Given the description of an element on the screen output the (x, y) to click on. 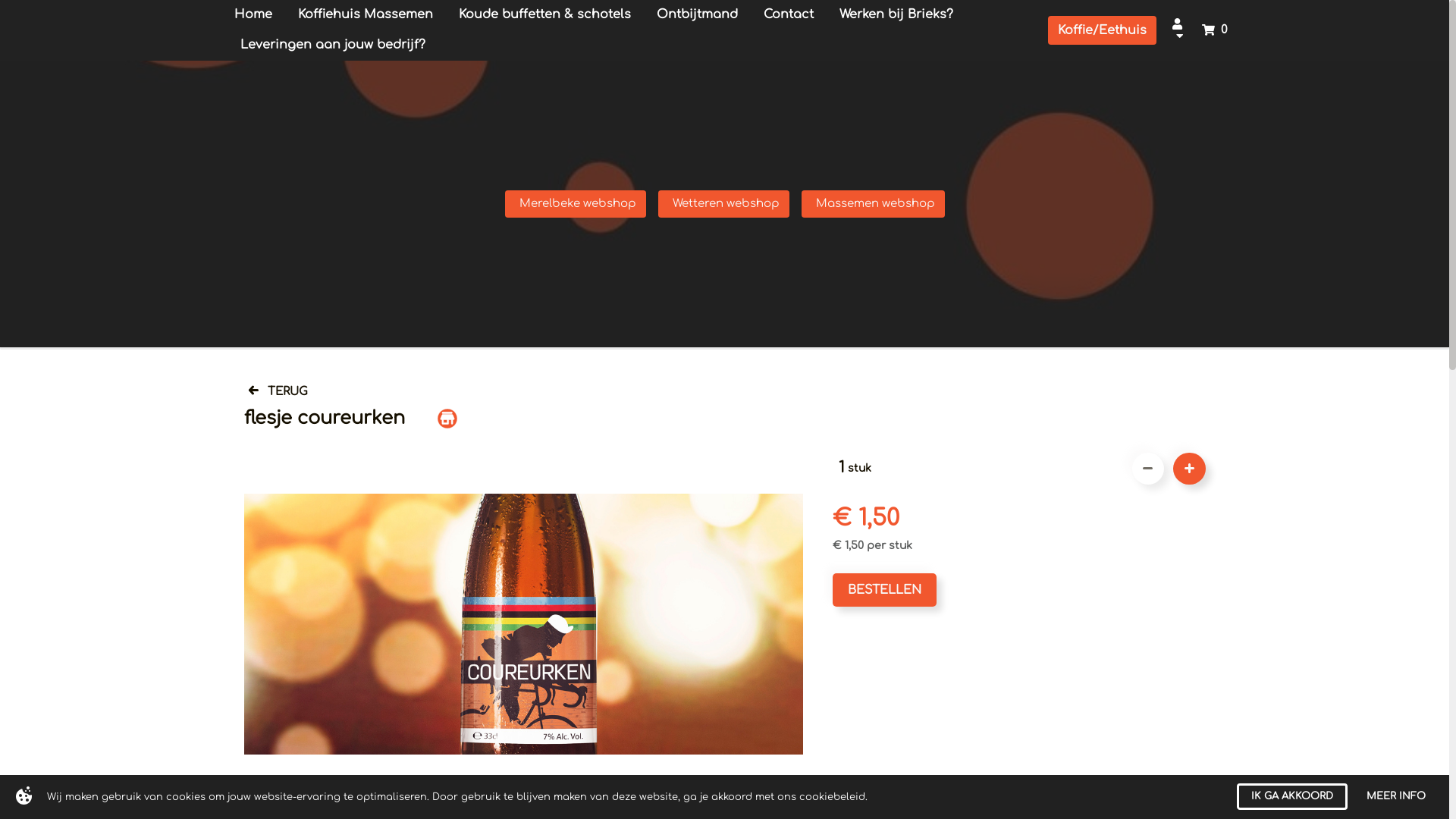
Werken bij Brieks? Element type: text (896, 15)
Home Element type: text (253, 15)
Wetteren webshop Element type: text (723, 203)
BESTELLEN Element type: text (884, 589)
Merelbeke webshop Element type: text (575, 203)
Koude buffetten & schotels Element type: text (544, 15)
Leveringen aan jouw bedrijf? Element type: text (332, 45)
Massemen webshop Element type: text (872, 203)
Koffiehuis Massemen Element type: text (365, 15)
Ontbijtmand Element type: text (696, 15)
Koffie/Eethuis Element type: text (1102, 29)
Contact Element type: text (788, 15)
0 Element type: text (1214, 29)
MEER INFO Element type: text (1395, 796)
IK GA AKKOORD Element type: text (1291, 796)
TERUG Element type: text (277, 391)
